Given the description of an element on the screen output the (x, y) to click on. 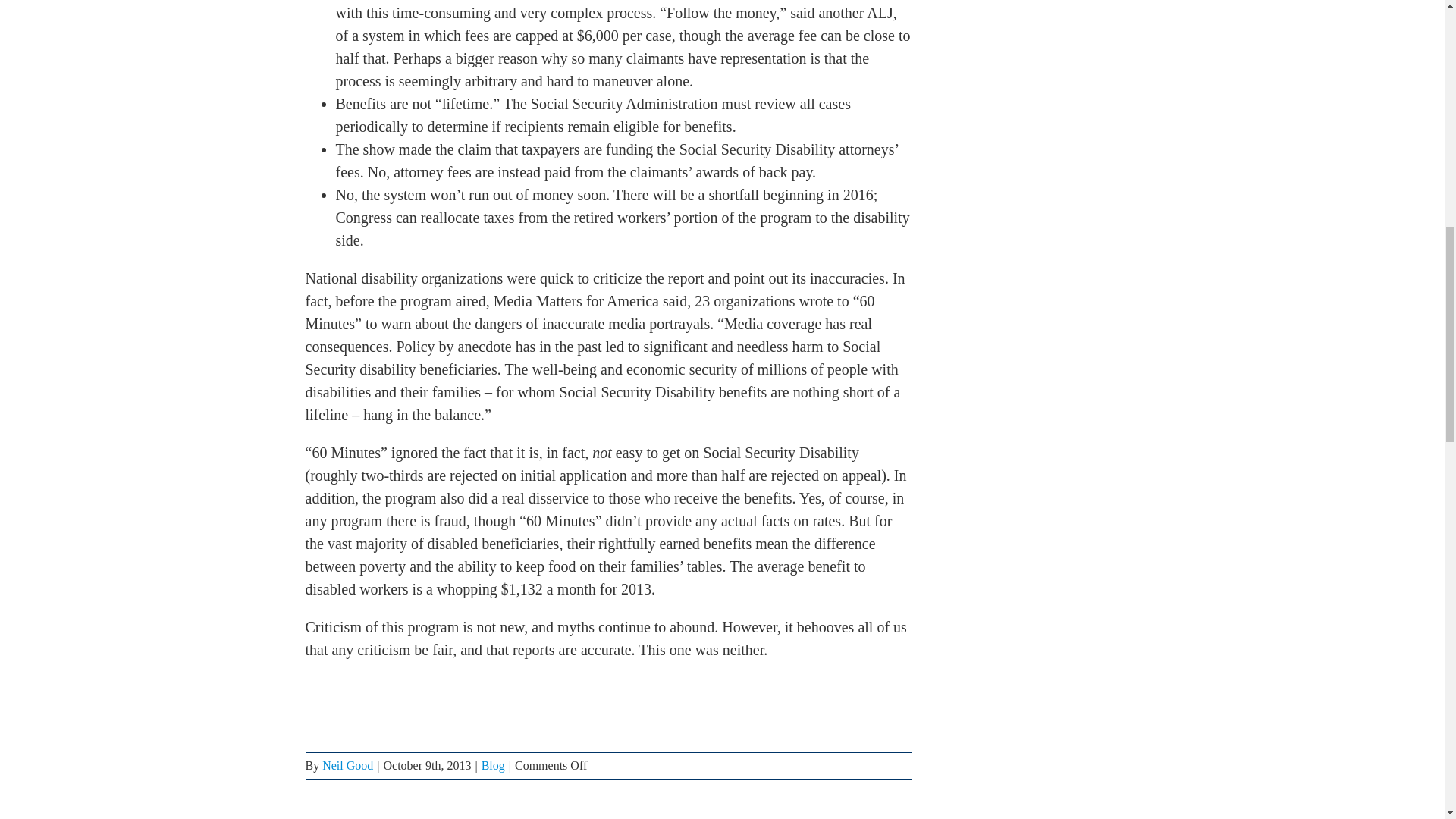
Posts by Neil Good (346, 765)
